Given the description of an element on the screen output the (x, y) to click on. 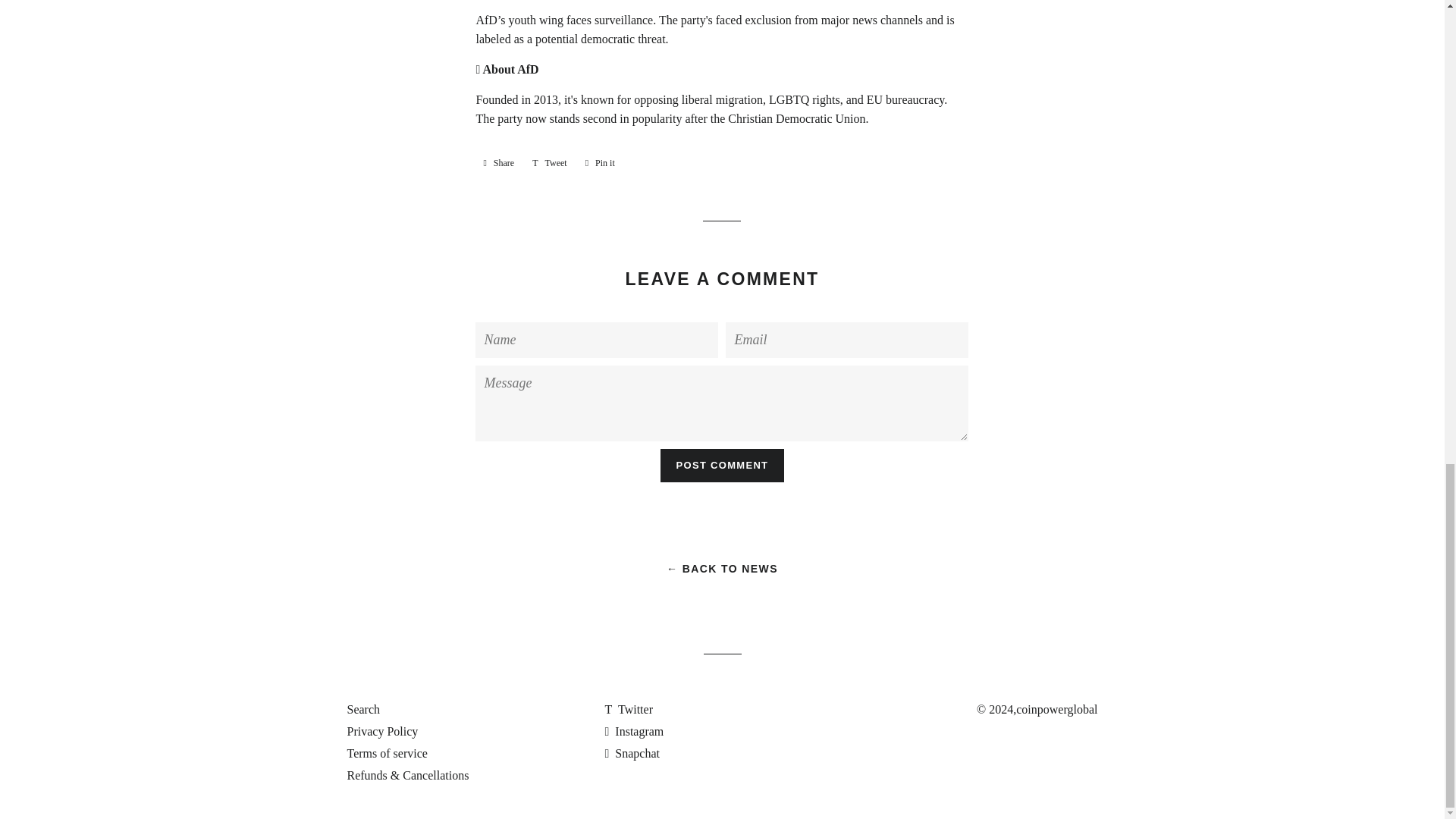
Post comment (549, 162)
Post comment (722, 464)
coinpowerglobal on Instagram (722, 464)
Pin on Pinterest (633, 730)
Share on Facebook (600, 162)
coinpowerglobal (498, 162)
Tweet on Twitter (1056, 708)
coinpowerglobal on Snapchat (549, 162)
Privacy Policy (498, 162)
Search (631, 753)
Snapchat (383, 730)
Terms of service (363, 708)
coinpowerglobal on Twitter (631, 753)
